Given the description of an element on the screen output the (x, y) to click on. 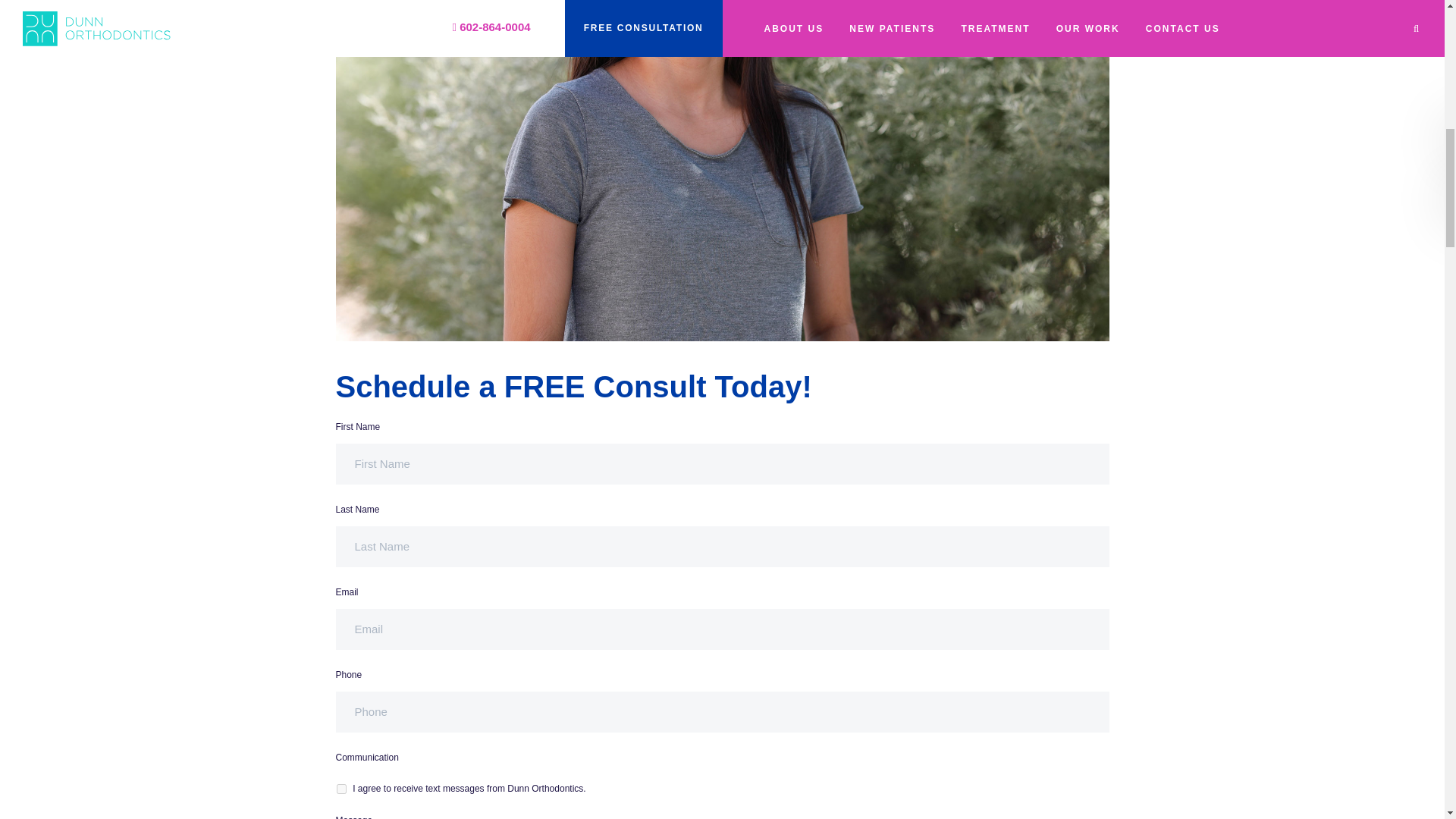
I agree to receive text messages from Dunn Orthodontics. (341, 788)
